Given the description of an element on the screen output the (x, y) to click on. 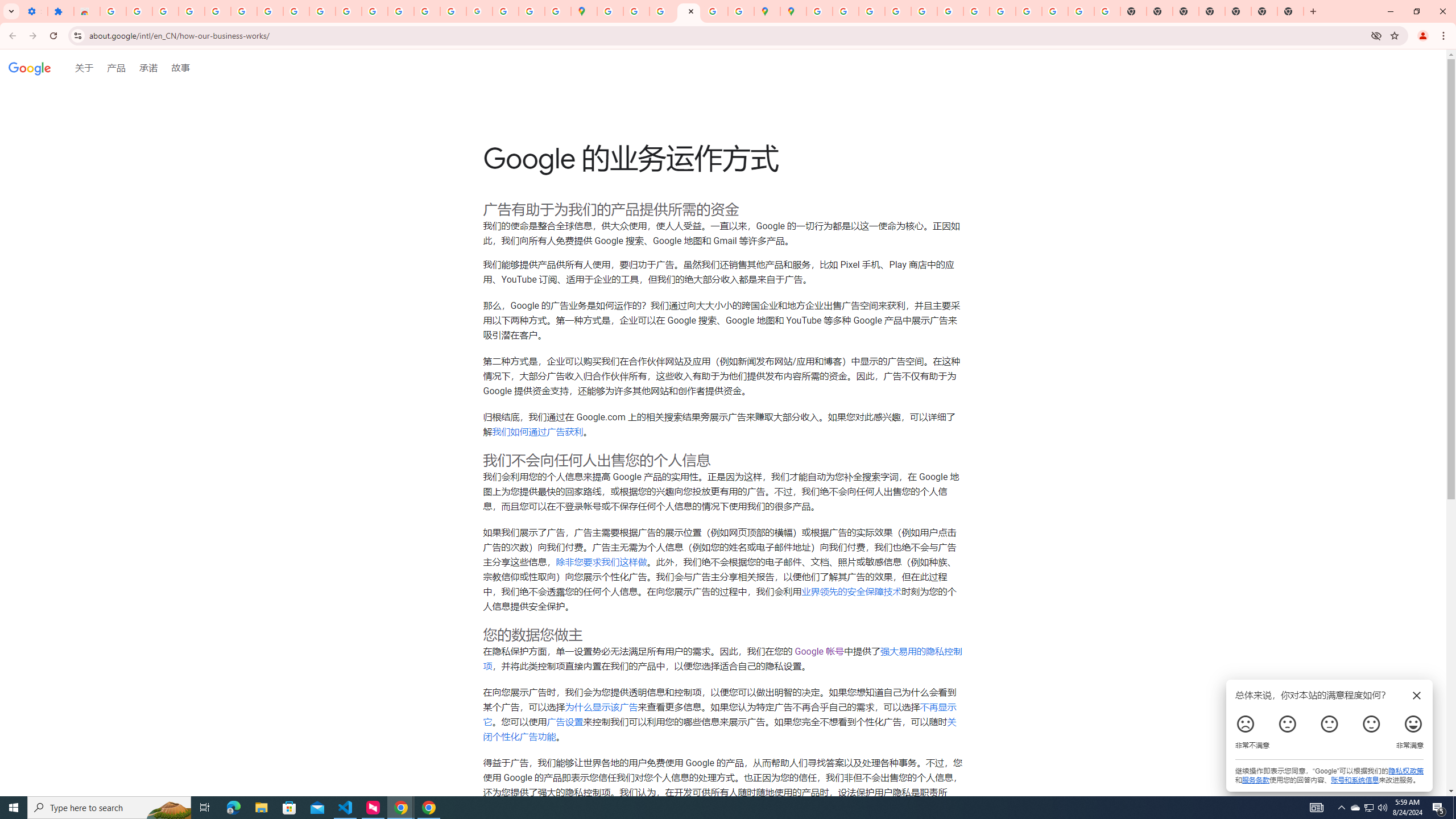
New Tab (1211, 11)
Sign in - Google Accounts (112, 11)
Settings - On startup (34, 11)
